Given the description of an element on the screen output the (x, y) to click on. 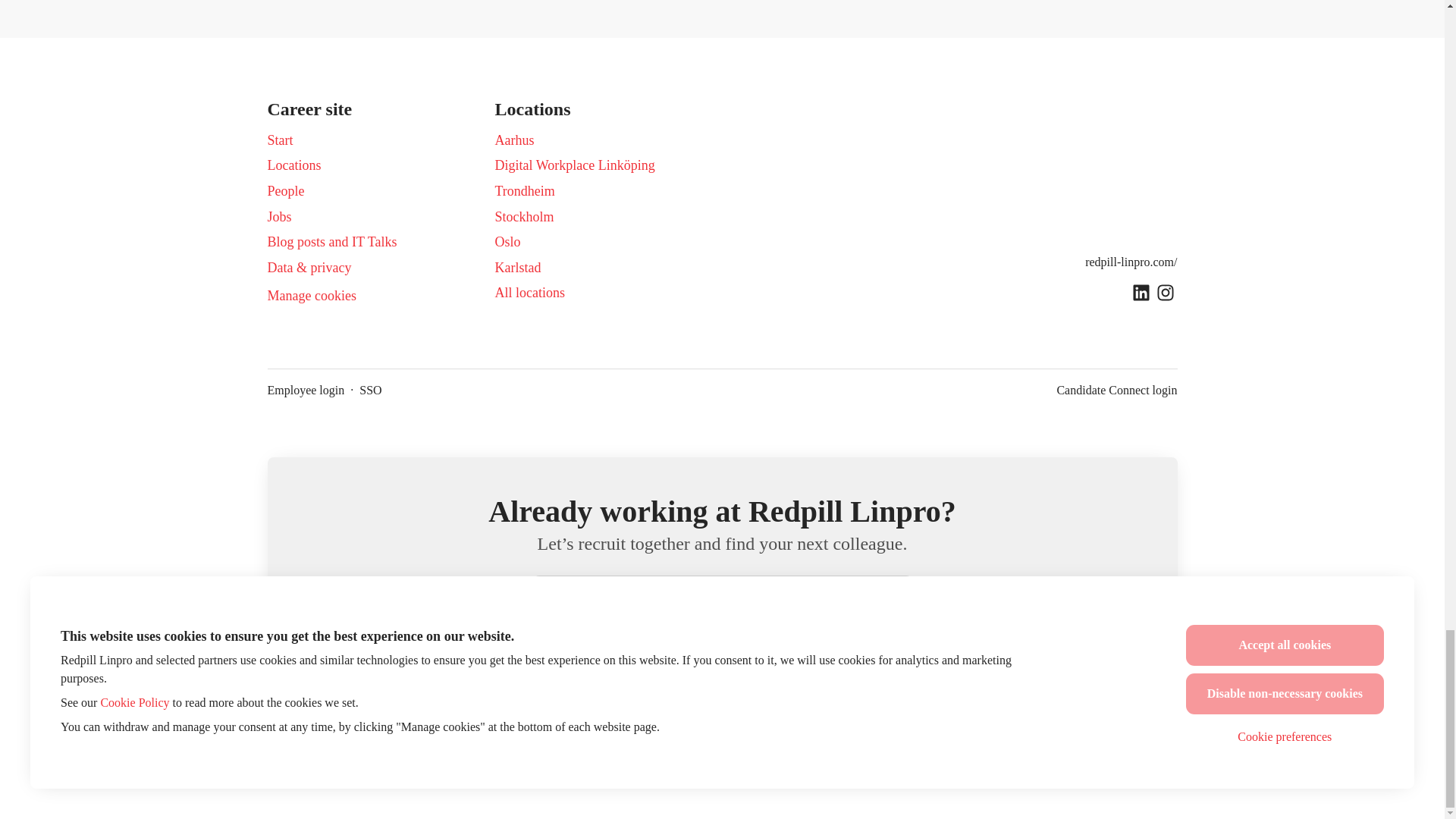
Pontus Arnell (908, 676)
Trondheim (524, 190)
Pip Oomen (536, 676)
Start (279, 139)
Stockholm (524, 216)
Karlstad (517, 267)
Simon Westerdahl (610, 676)
Filip Rydberg (834, 676)
Log in (887, 598)
Marcus Littenheim (462, 676)
